Given the description of an element on the screen output the (x, y) to click on. 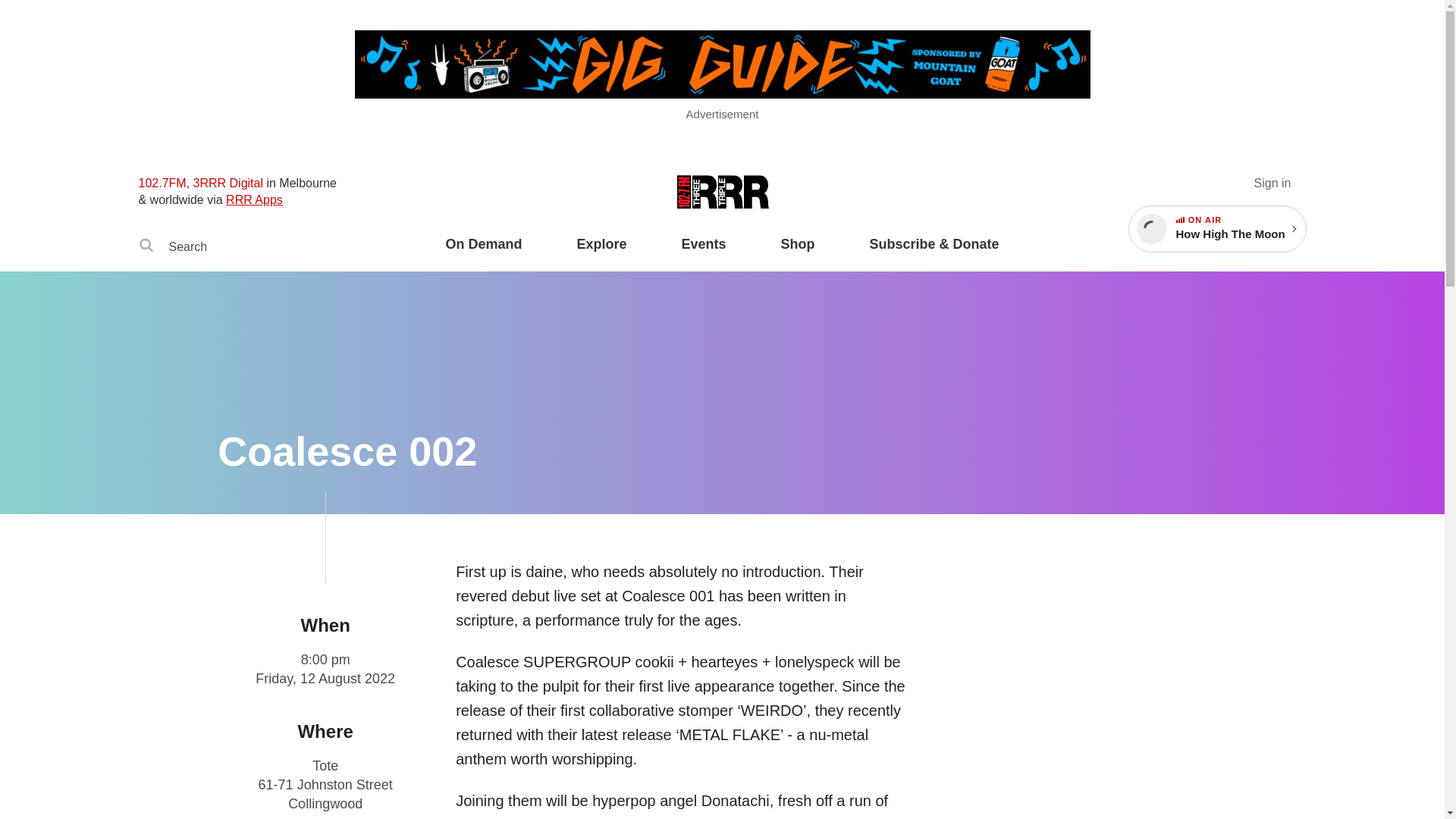
Shop (798, 253)
Triple R logo (722, 192)
Events (702, 253)
Explore (600, 253)
Sign in (1272, 182)
On Demand (482, 253)
Search (145, 247)
ANIMATED AUDIO BARS (1179, 219)
RRR Apps (253, 199)
